Given the description of an element on the screen output the (x, y) to click on. 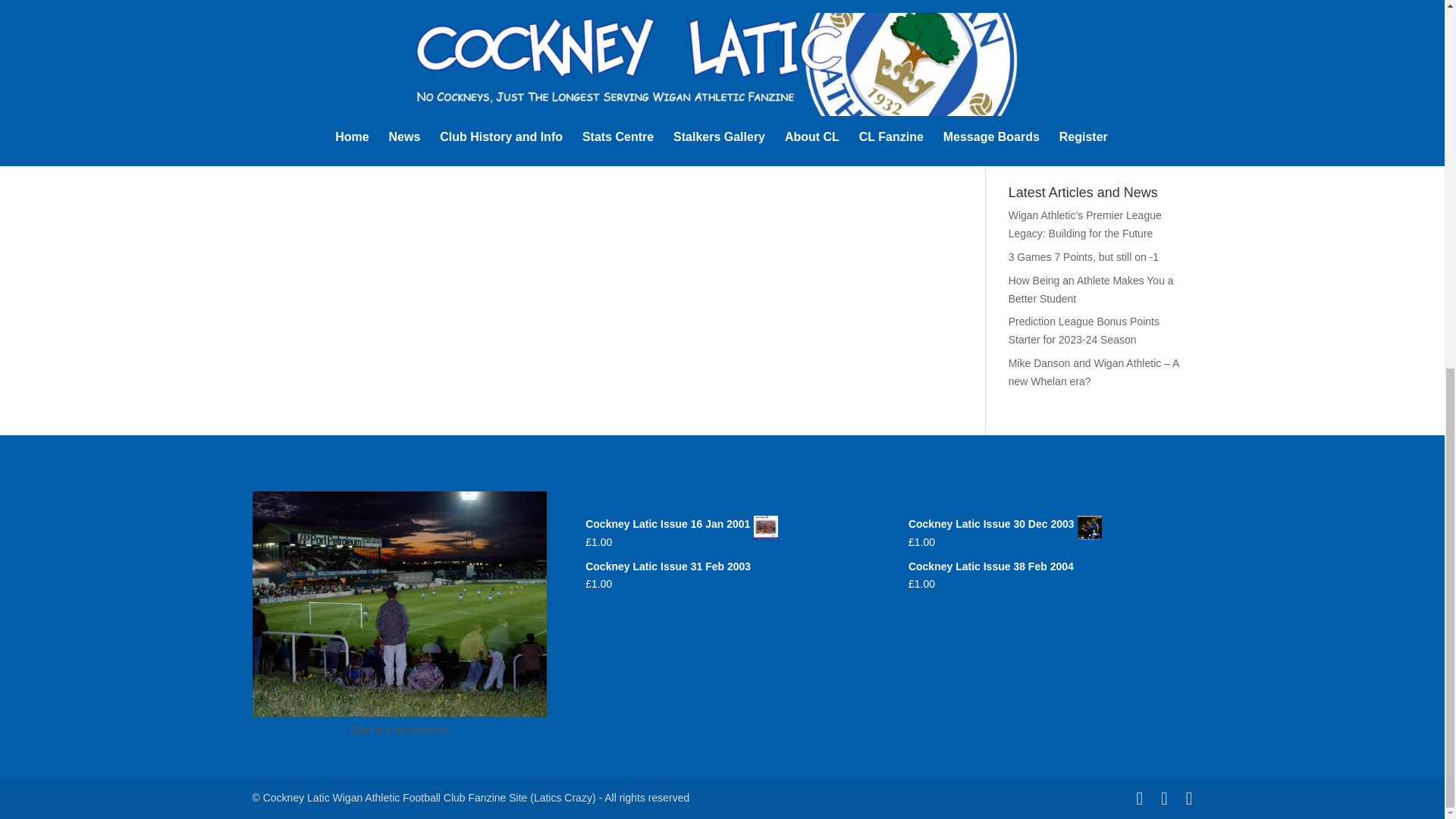
Links to other sites (1053, 153)
Prediction League Forum (1067, 106)
Music and Movies (1051, 82)
Non Football Stuff (1051, 60)
Away Travel (1037, 130)
Latics Crazy Forum (1054, 37)
